Given the description of an element on the screen output the (x, y) to click on. 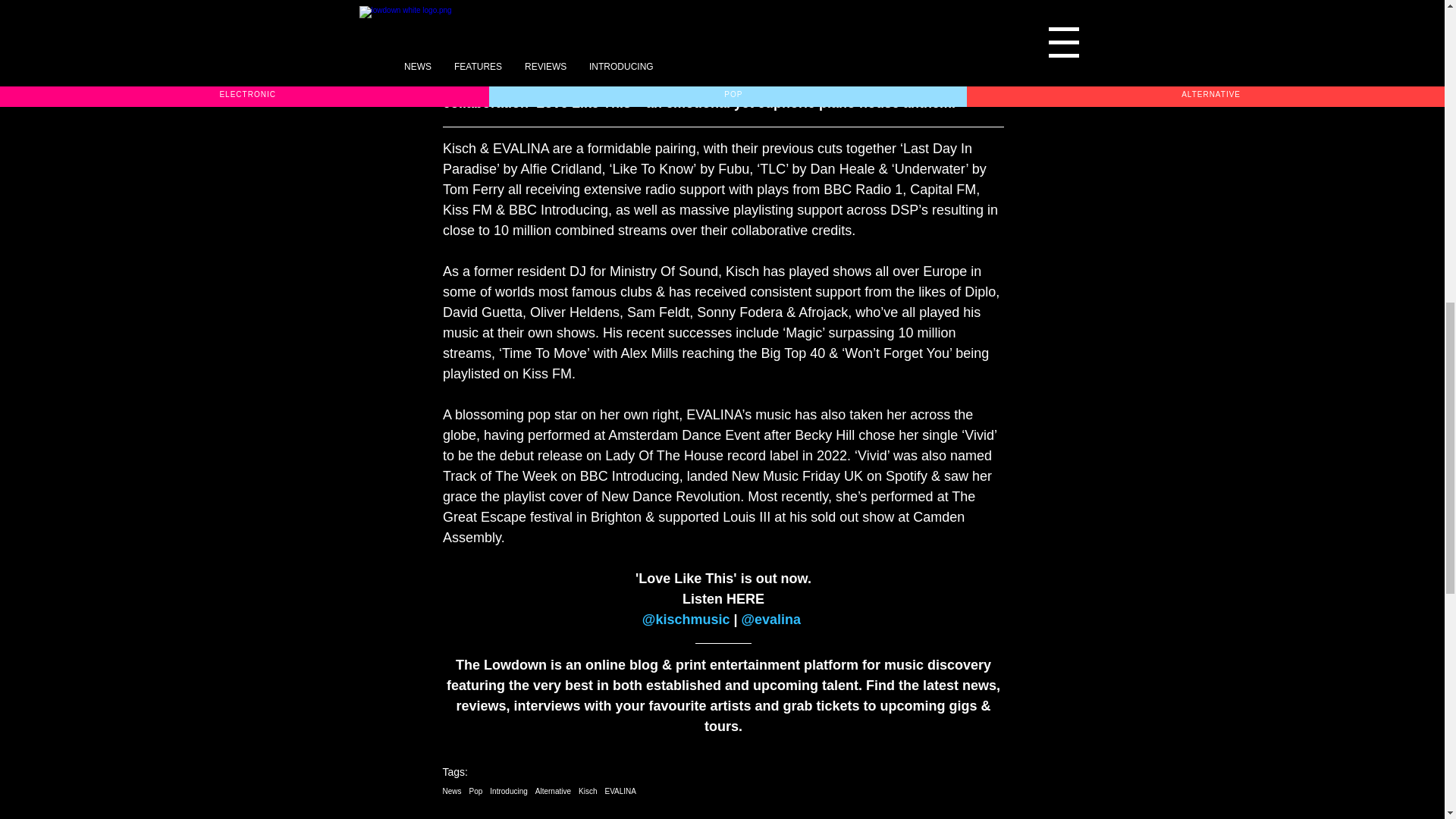
News (451, 791)
Introducing (508, 791)
EVALINA (621, 791)
Kisch (587, 791)
Pop (475, 791)
HERE (745, 598)
Alternative (552, 791)
